Given the description of an element on the screen output the (x, y) to click on. 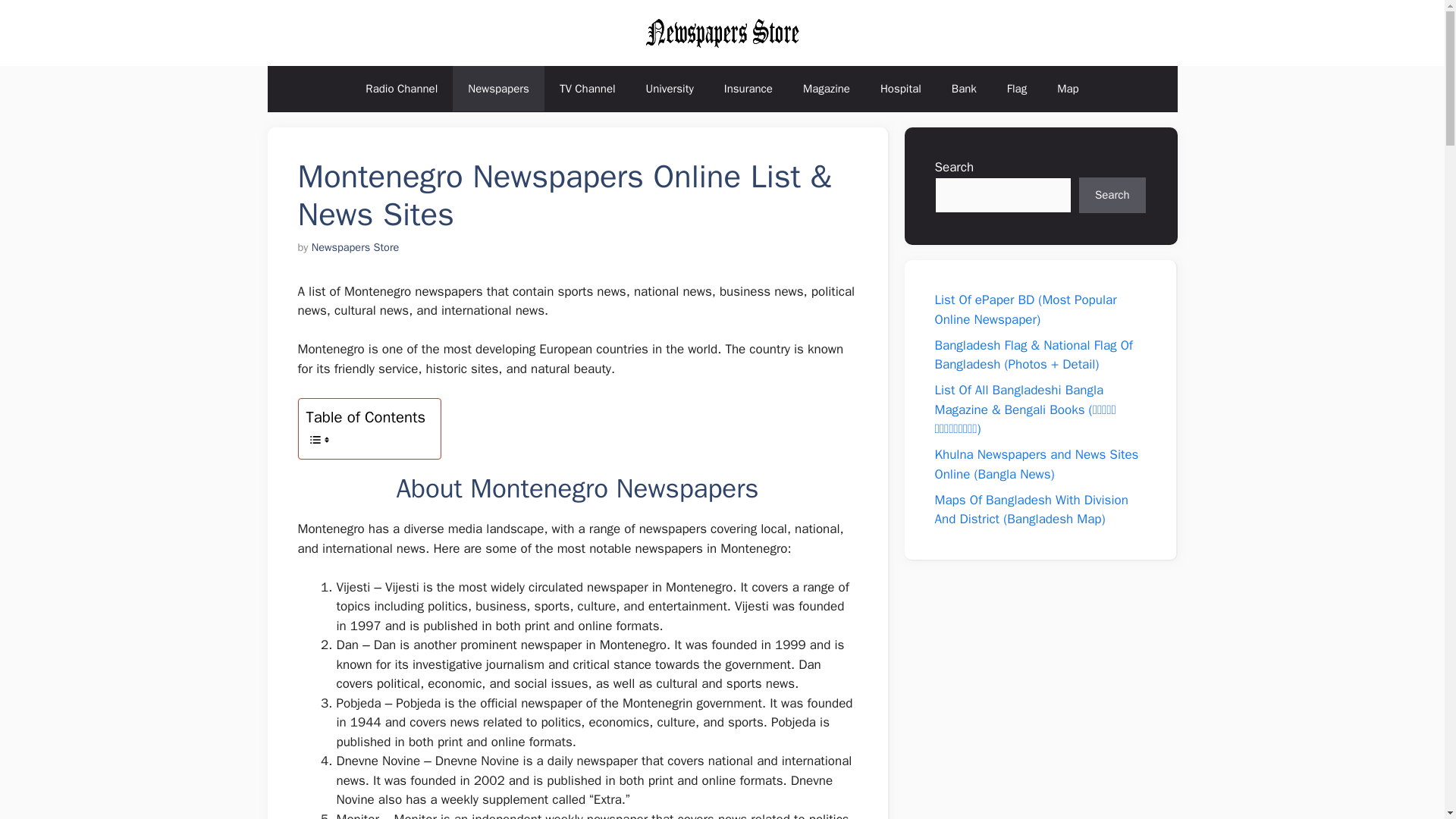
Insurance (748, 88)
Flag (1016, 88)
Map (1067, 88)
Magazine (825, 88)
Bank (963, 88)
Newspapers (498, 88)
Hospital (900, 88)
TV Channel (587, 88)
View all posts by Newspapers Store (354, 246)
University (669, 88)
